Given the description of an element on the screen output the (x, y) to click on. 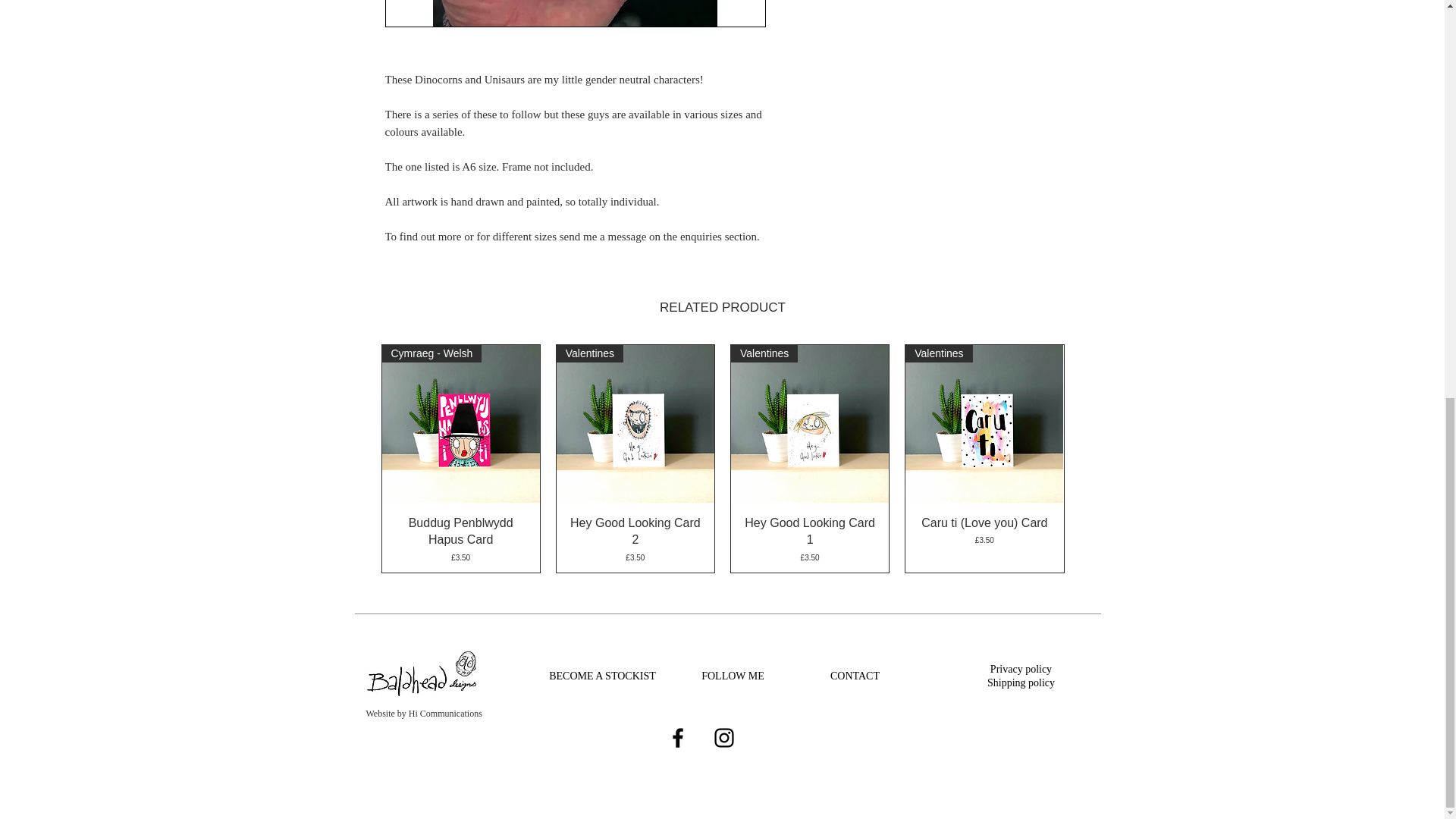
Cymraeg - Welsh (460, 423)
Valentines (809, 423)
Valentines (635, 423)
Valentines (983, 423)
